Given the description of an element on the screen output the (x, y) to click on. 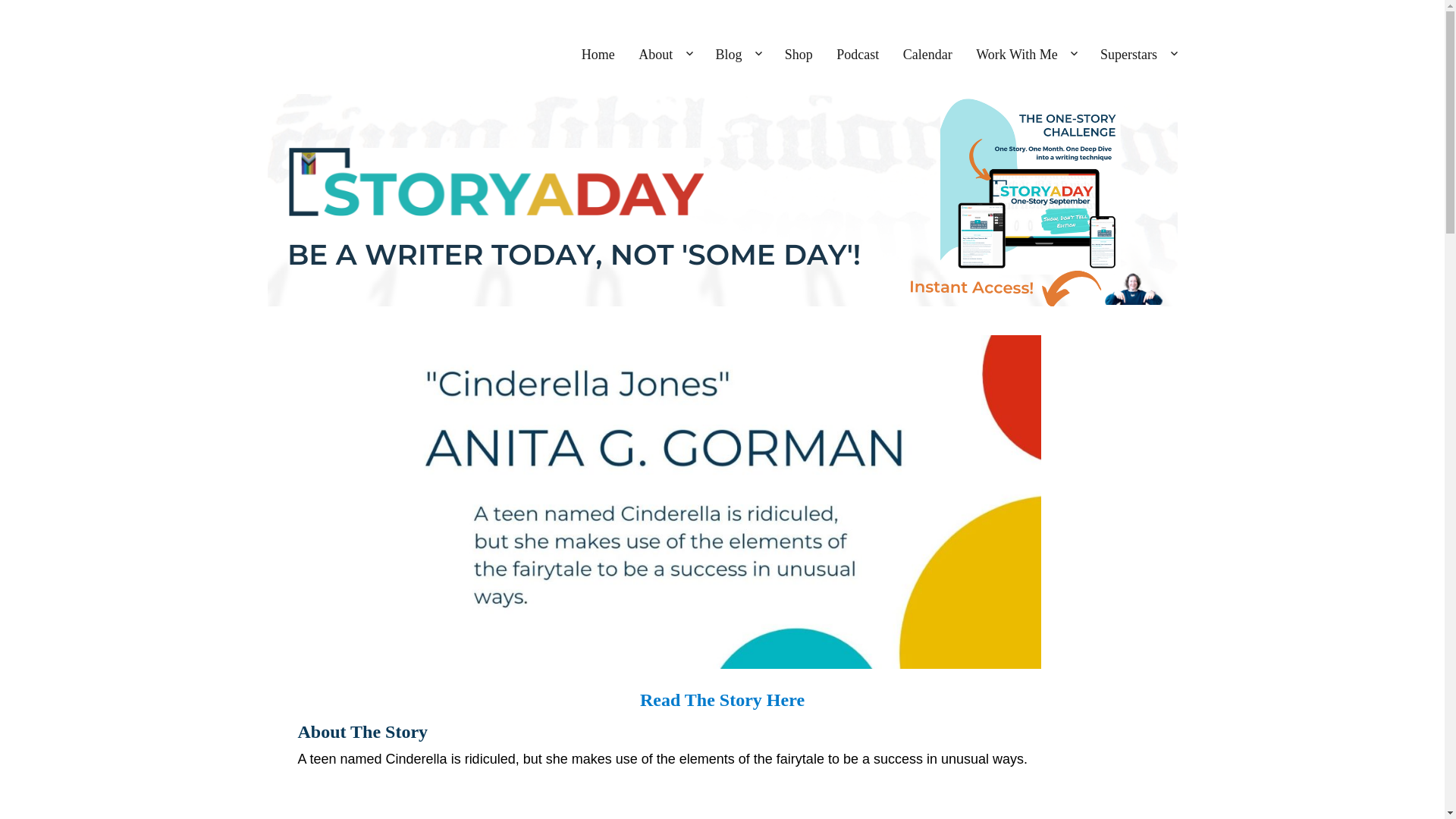
Home (598, 54)
Shop (799, 54)
StoryADay (317, 50)
About (665, 54)
Podcast (858, 54)
Blog (738, 54)
